Given the description of an element on the screen output the (x, y) to click on. 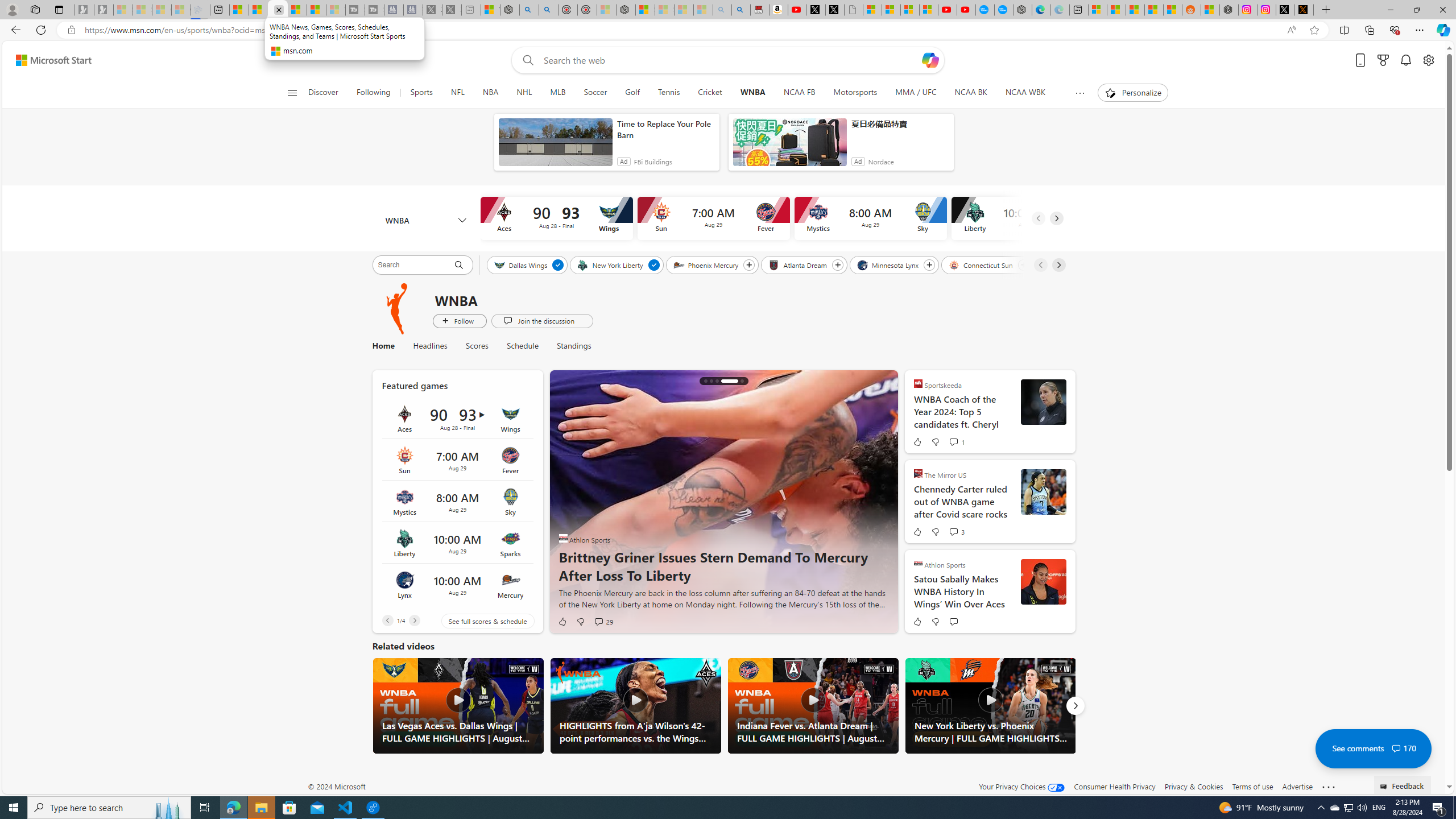
Open navigation menu (292, 92)
Sportskeeda (917, 383)
Start the conversation (952, 621)
NCAA FB (799, 92)
Standings (569, 345)
NHL (524, 92)
Newsletter Sign Up - Sleeping (102, 9)
Consumer Health Privacy (1115, 786)
Soccer (595, 92)
